Given the description of an element on the screen output the (x, y) to click on. 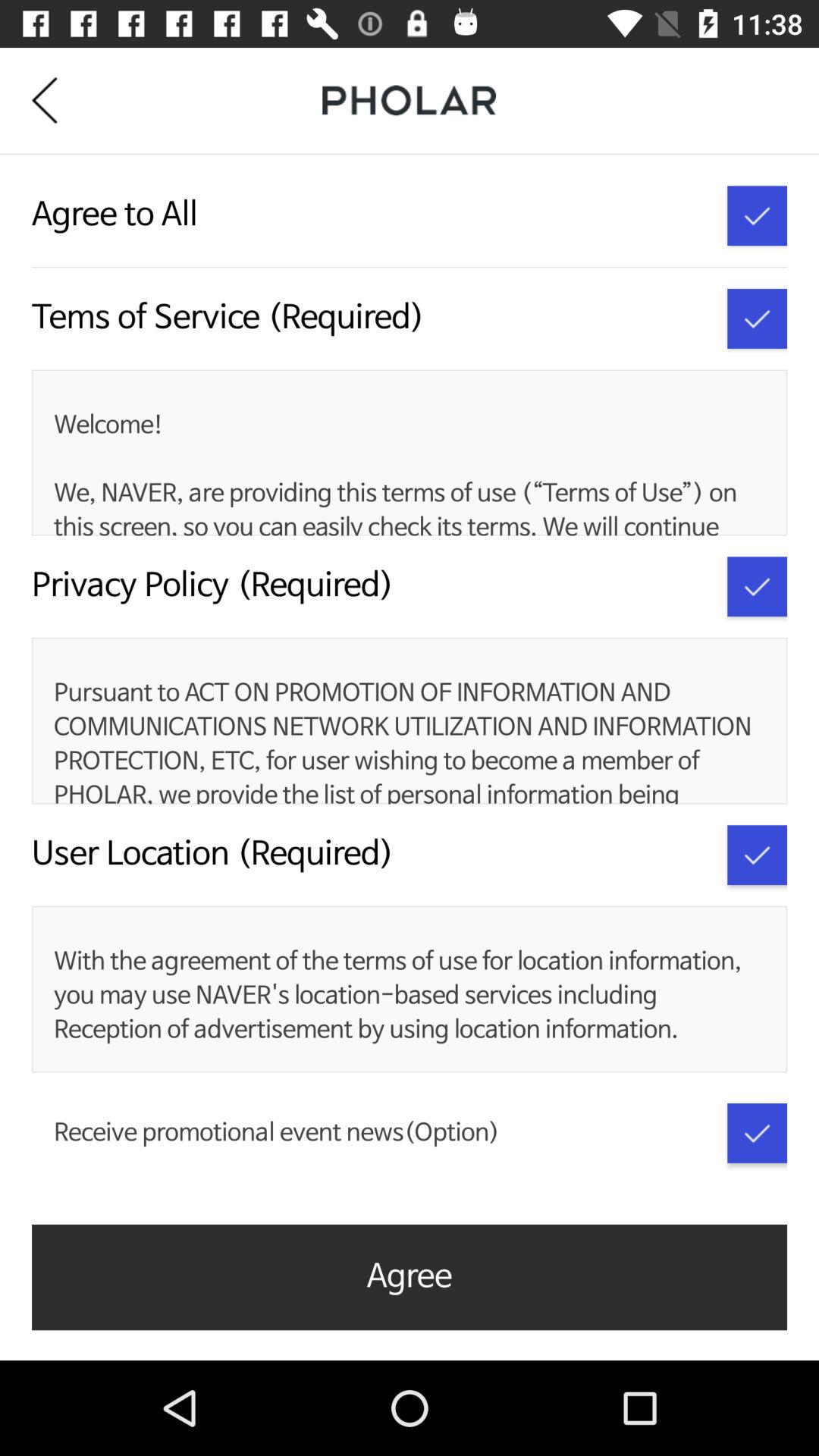
agree with the terms of service (757, 215)
